Given the description of an element on the screen output the (x, y) to click on. 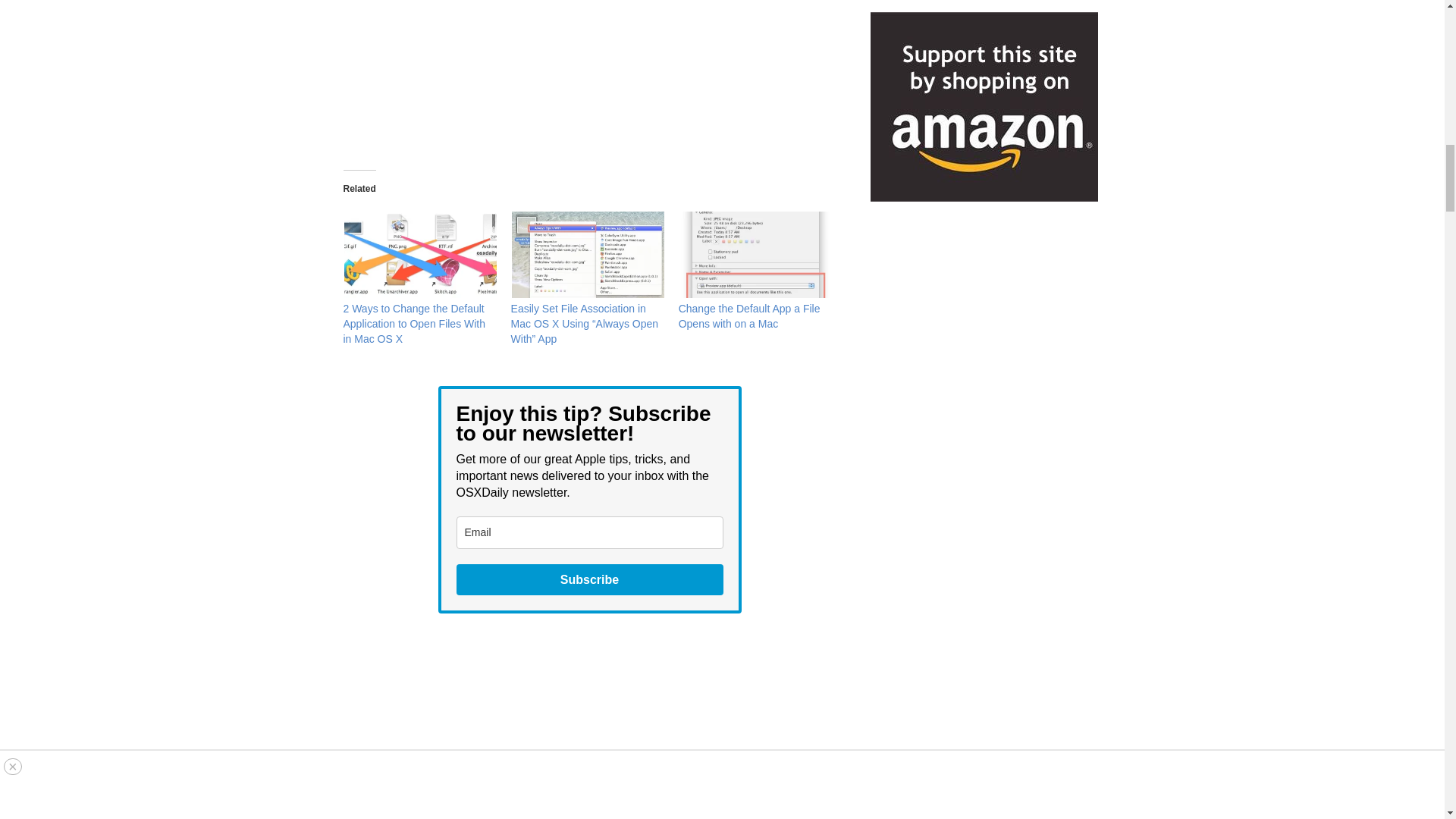
Change the Default App a File Opens with on a Mac (749, 316)
Subscribe (590, 579)
